Given the description of an element on the screen output the (x, y) to click on. 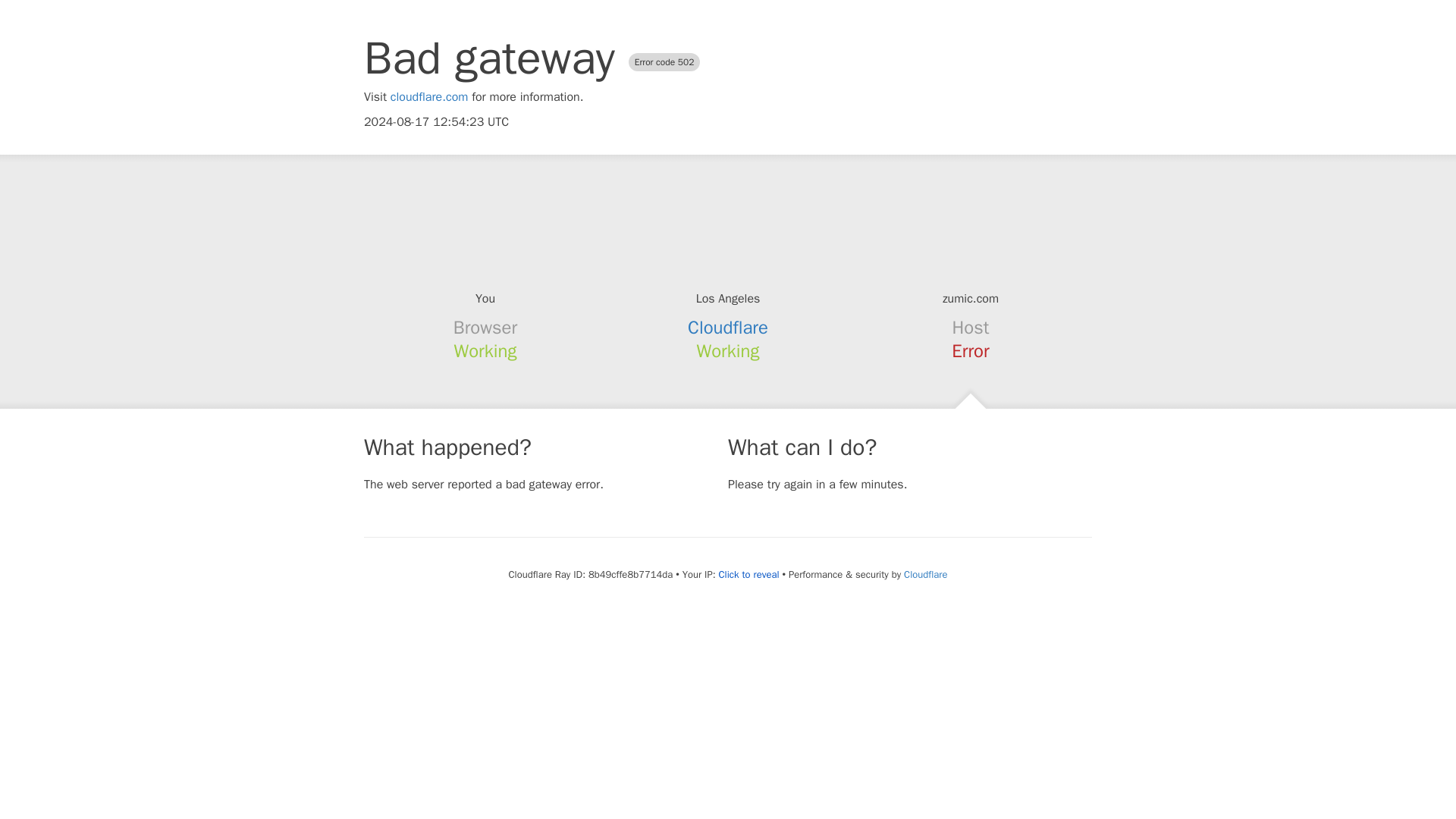
cloudflare.com (429, 96)
Click to reveal (748, 574)
Cloudflare (925, 574)
Cloudflare (727, 327)
